Given the description of an element on the screen output the (x, y) to click on. 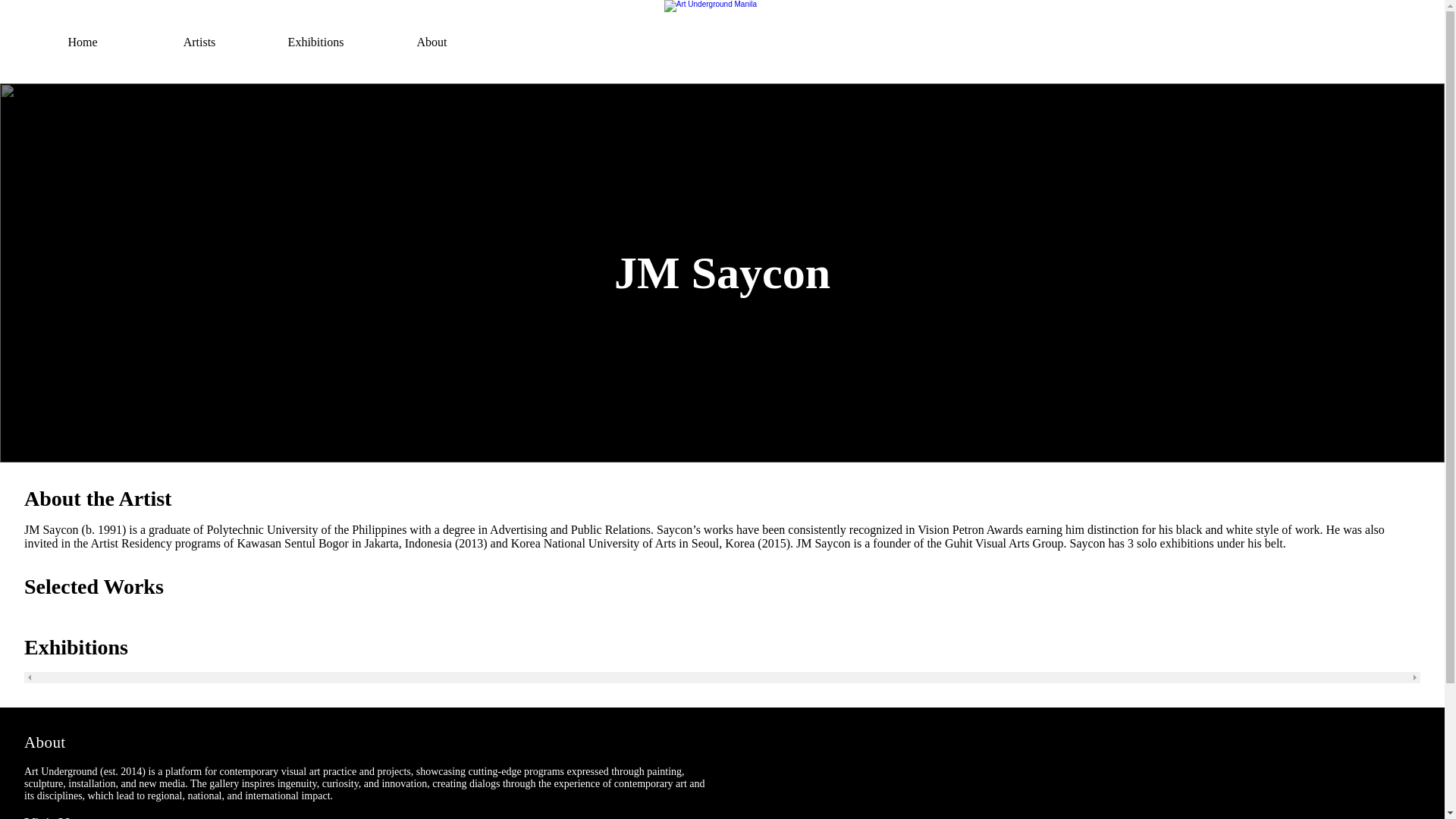
Exhibitions (315, 42)
Home (82, 42)
Artists (199, 42)
About (431, 42)
